Given the description of an element on the screen output the (x, y) to click on. 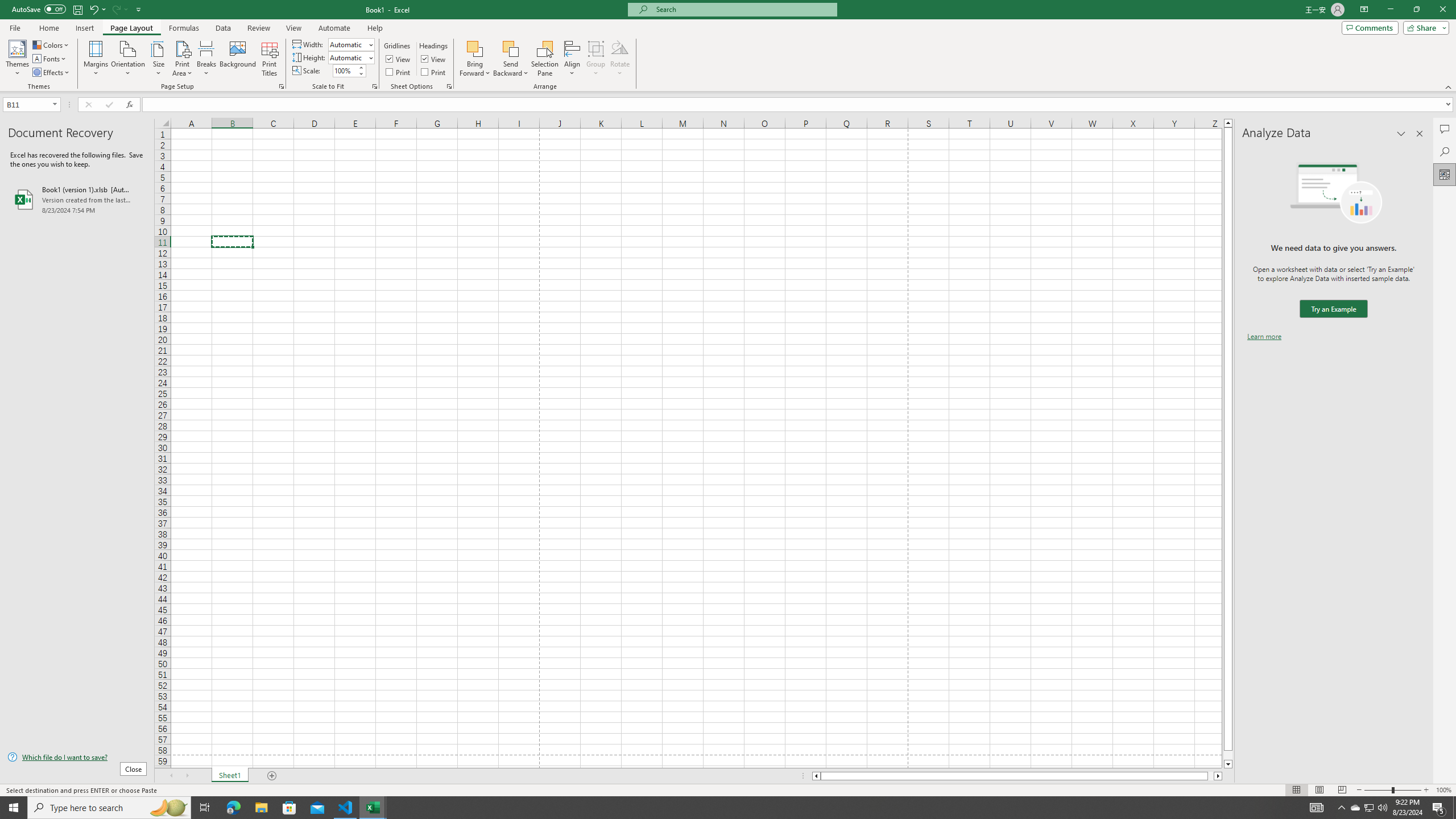
Send Backward (510, 58)
Print Area (182, 58)
Learn more (1264, 336)
Bring Forward (475, 58)
Sheet Options (449, 85)
Less (360, 73)
Themes (17, 58)
